Given the description of an element on the screen output the (x, y) to click on. 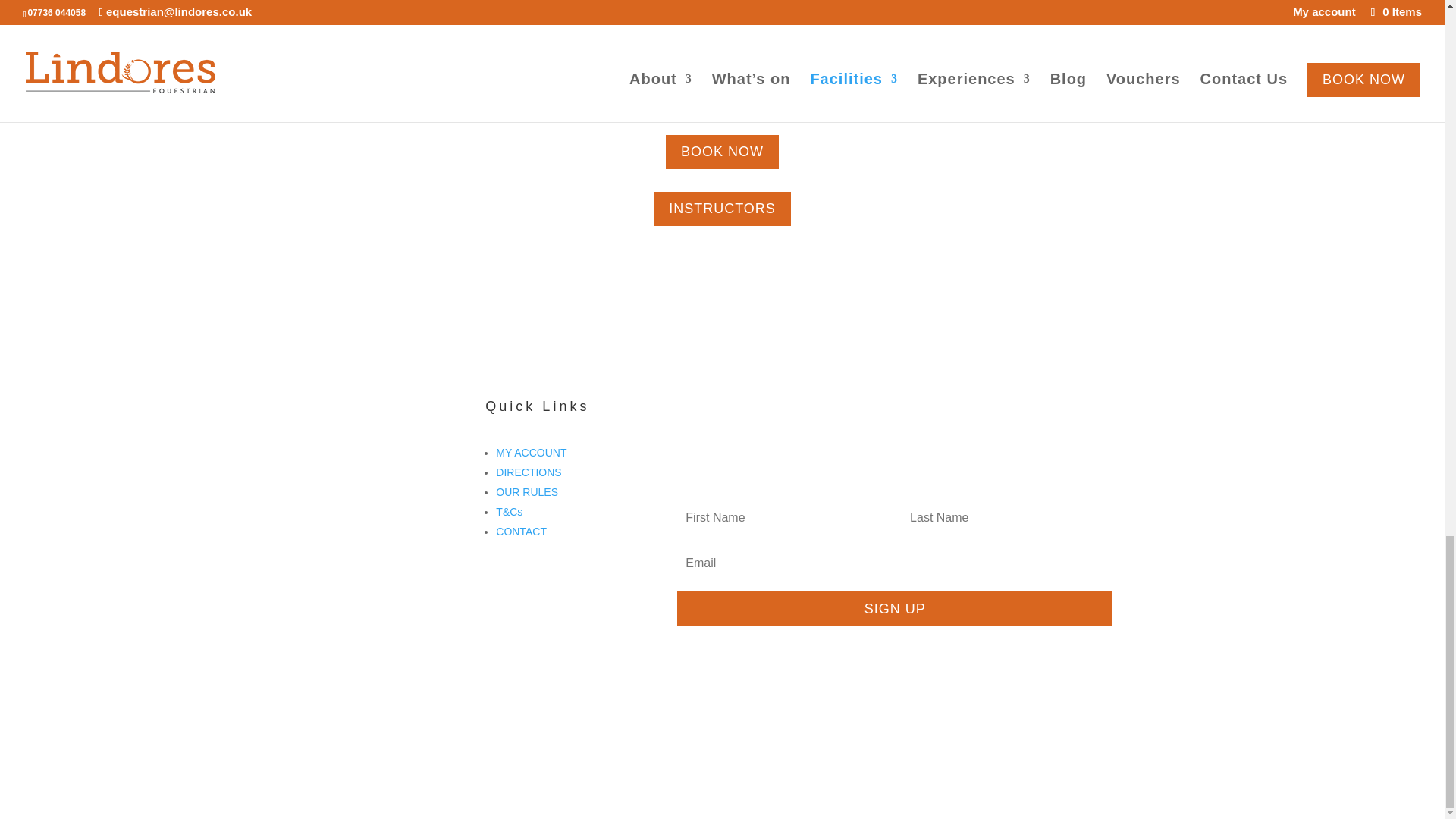
BOOK NOW (721, 151)
Follow on Instagram (376, 461)
INSTRUCTORS (721, 208)
MY ACCOUNT (531, 452)
Follow on X (406, 461)
Follow on Facebook (346, 461)
